Given the description of an element on the screen output the (x, y) to click on. 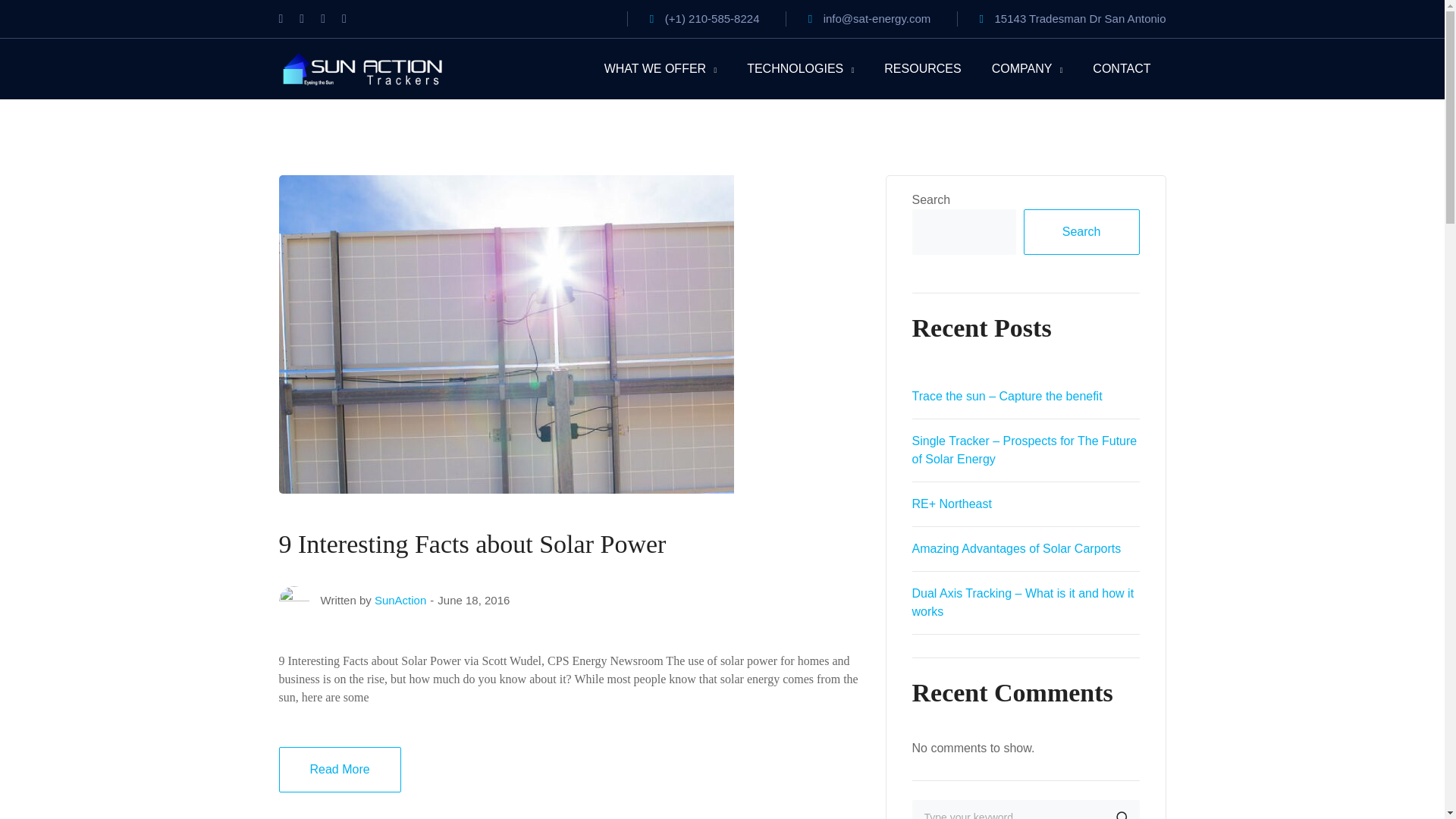
Amazing Advantages of Solar Carports (1016, 548)
RESOURCES (921, 69)
Search (1120, 809)
WHAT WE OFFER (660, 69)
View all posts by SunAction (400, 599)
9 Interesting Facts about Solar Power (472, 543)
TECHNOLOGIES (799, 69)
Search for: (1024, 809)
Sun Action (362, 67)
Search (1081, 231)
SEARCH (1120, 809)
COMPANY (1026, 69)
Read More (340, 769)
SunAction (400, 599)
Read More (340, 769)
